Given the description of an element on the screen output the (x, y) to click on. 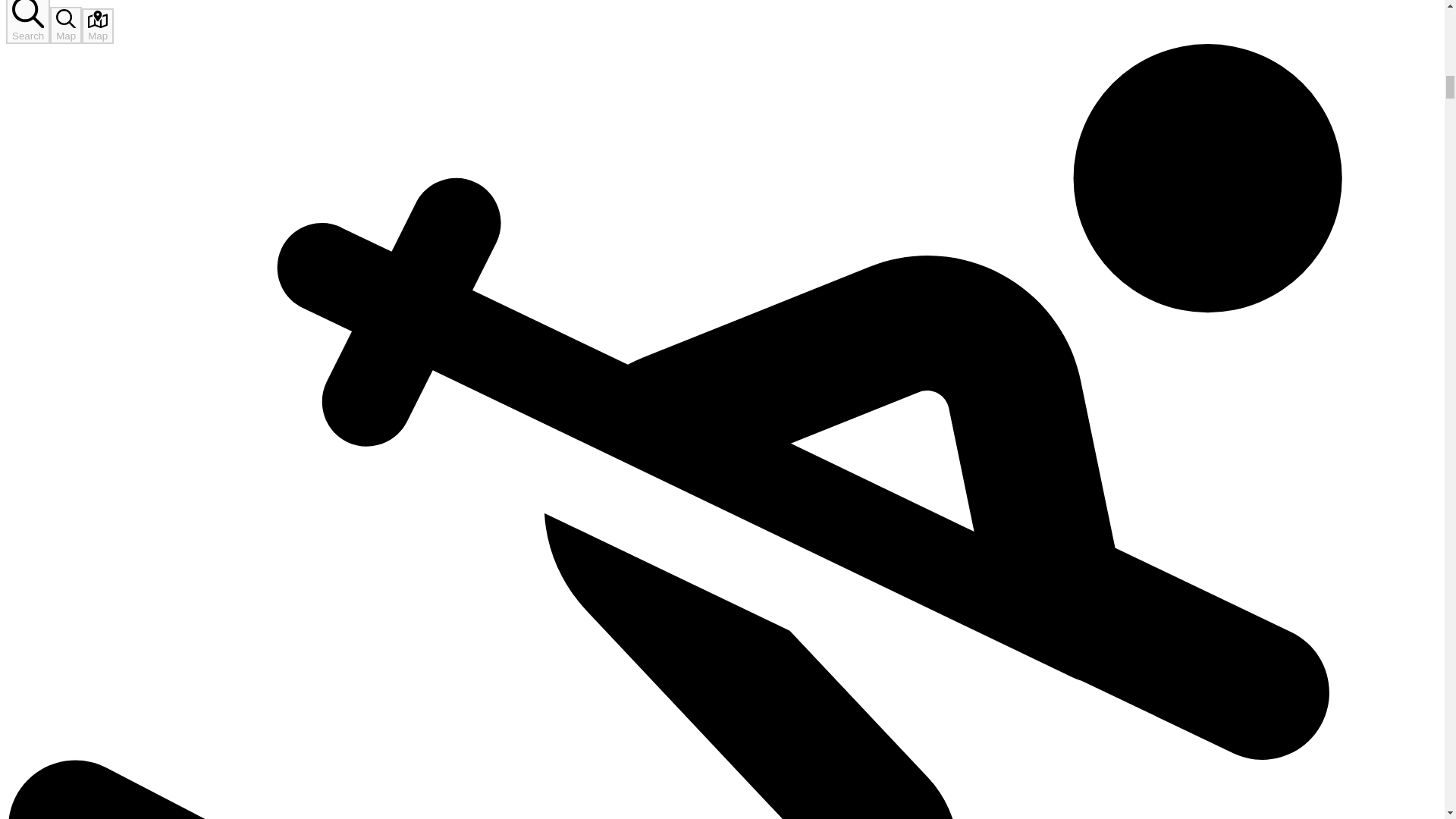
Map (97, 26)
Search (27, 22)
